Given the description of an element on the screen output the (x, y) to click on. 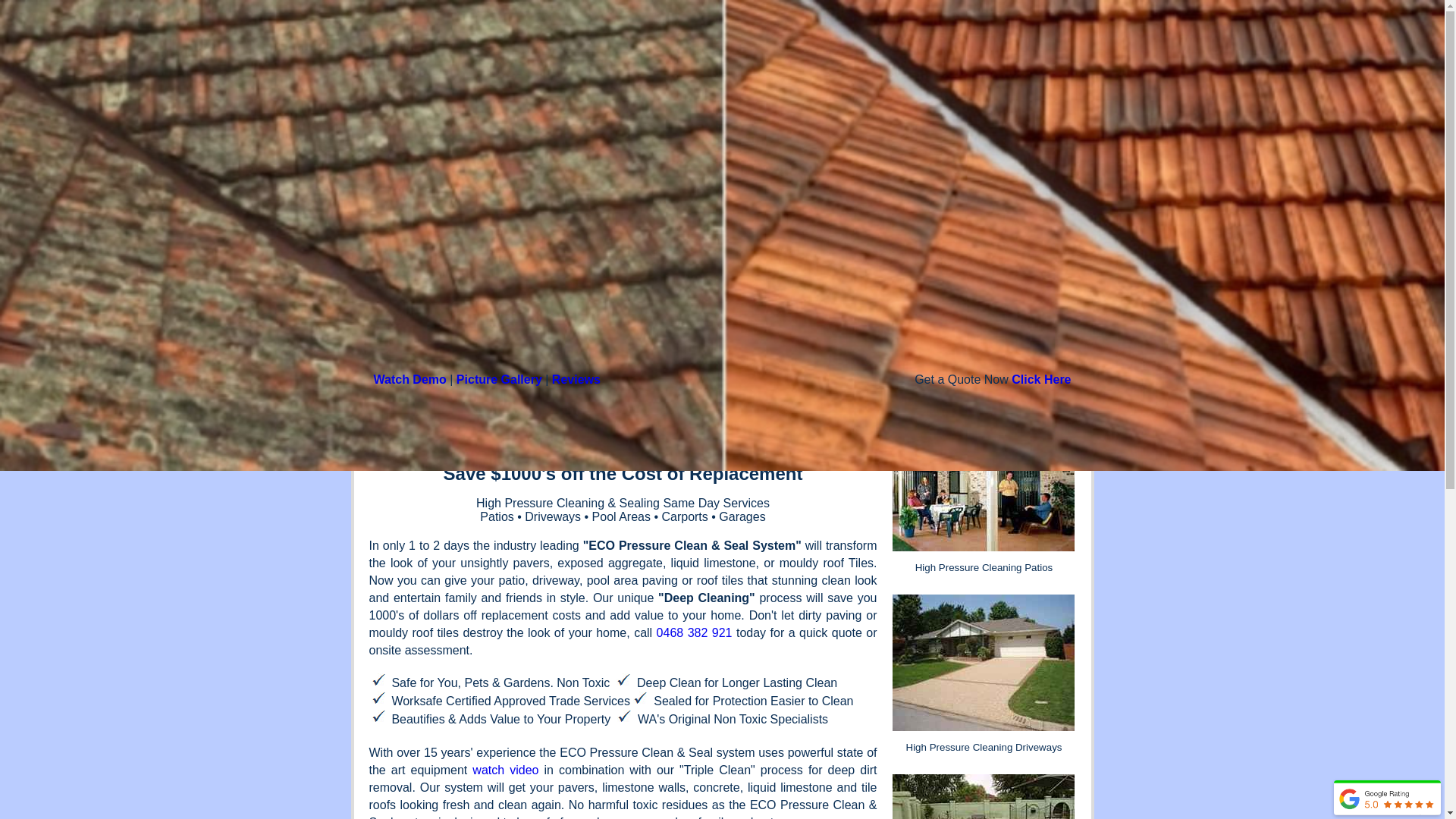
Roofs Element type: text (951, 94)
High Pressure Cleaning Services Perth Element type: text (749, 64)
Click Here Element type: text (1040, 379)
Reviews Element type: text (576, 379)
Picture Gallery Element type: text (499, 379)
Contact Us Element type: text (1028, 94)
Reviews Element type: text (880, 94)
Our Promise to You Element type: text (771, 94)
Watch Demo Element type: text (409, 379)
Home Element type: text (672, 94)
watch video Element type: text (505, 769)
0468 382 921 Element type: text (694, 632)
